Given the description of an element on the screen output the (x, y) to click on. 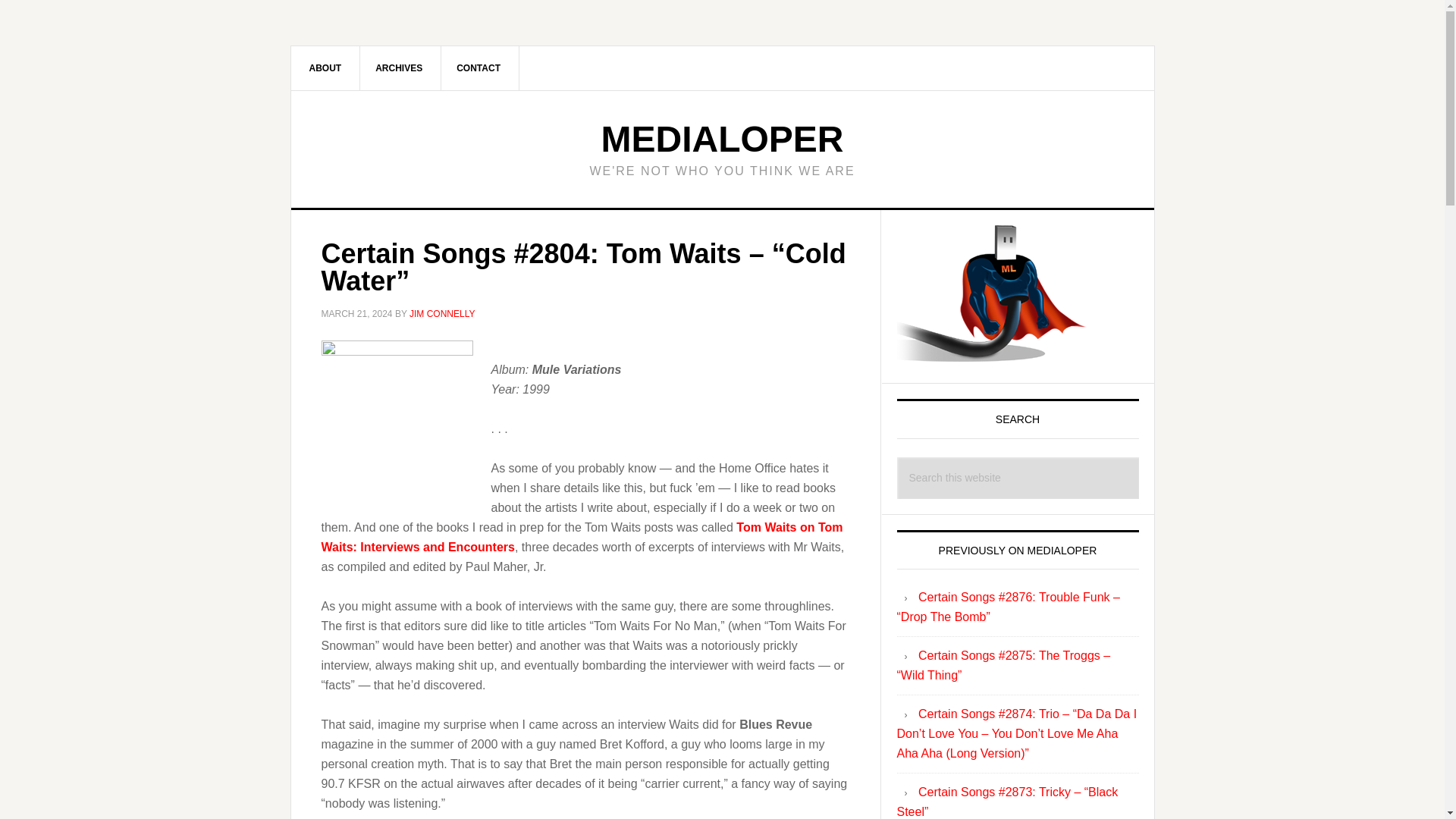
Tom Waits on Tom Waits: Interviews and Encounters (582, 536)
JIM CONNELLY (441, 313)
ARCHIVES (398, 67)
MEDIALOPER (721, 138)
CONTACT (478, 67)
ABOUT (326, 67)
